Given the description of an element on the screen output the (x, y) to click on. 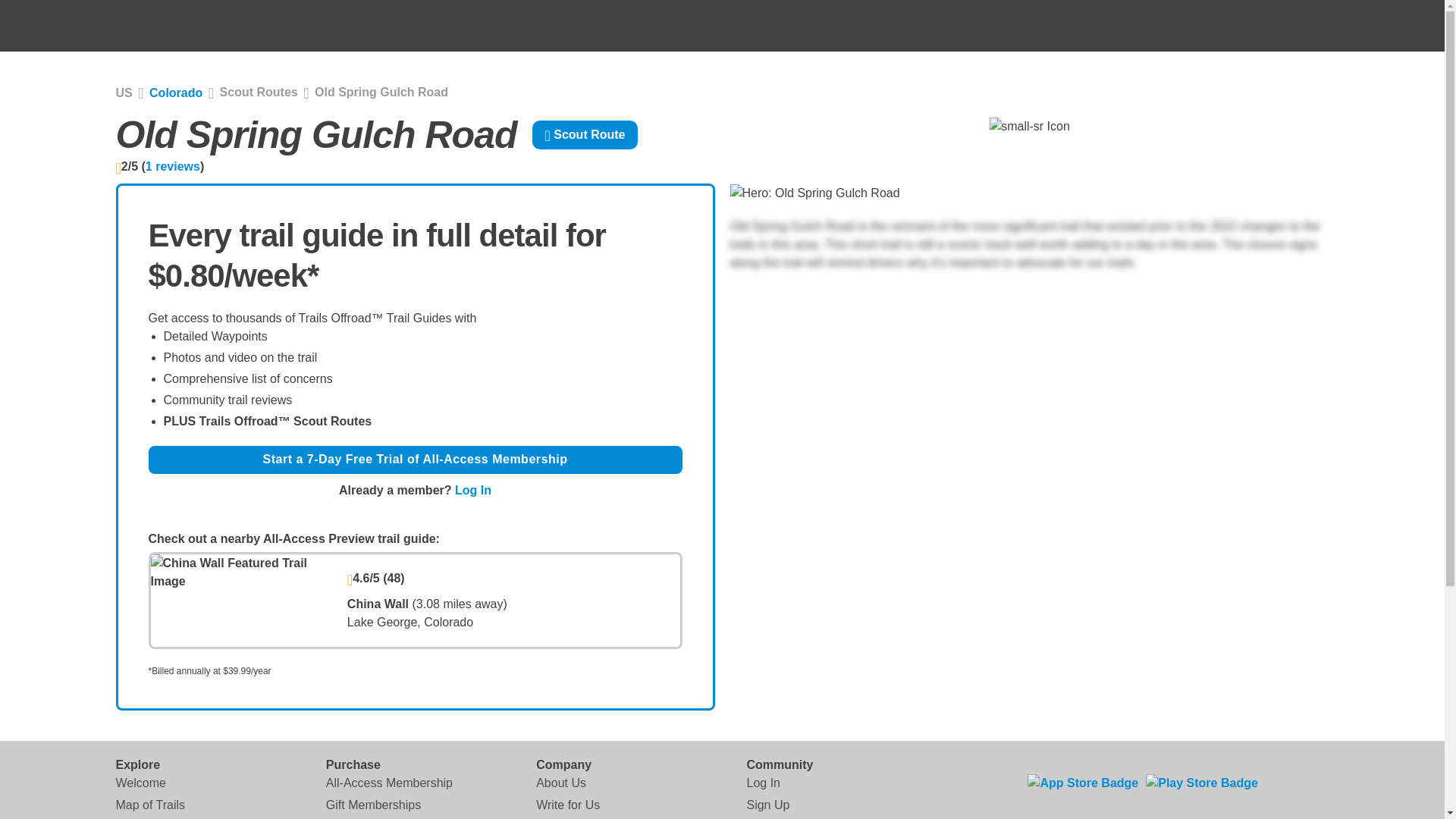
Sign Up (767, 805)
Log In (761, 782)
Log In (473, 490)
Map of Trails (149, 805)
Technical Ratings (162, 818)
Write for Us (567, 805)
Welcome (140, 782)
Start a 7-Day Free Trial of All-Access Membership (415, 459)
All-Access Membership (389, 782)
Contact Us (565, 818)
